Given the description of an element on the screen output the (x, y) to click on. 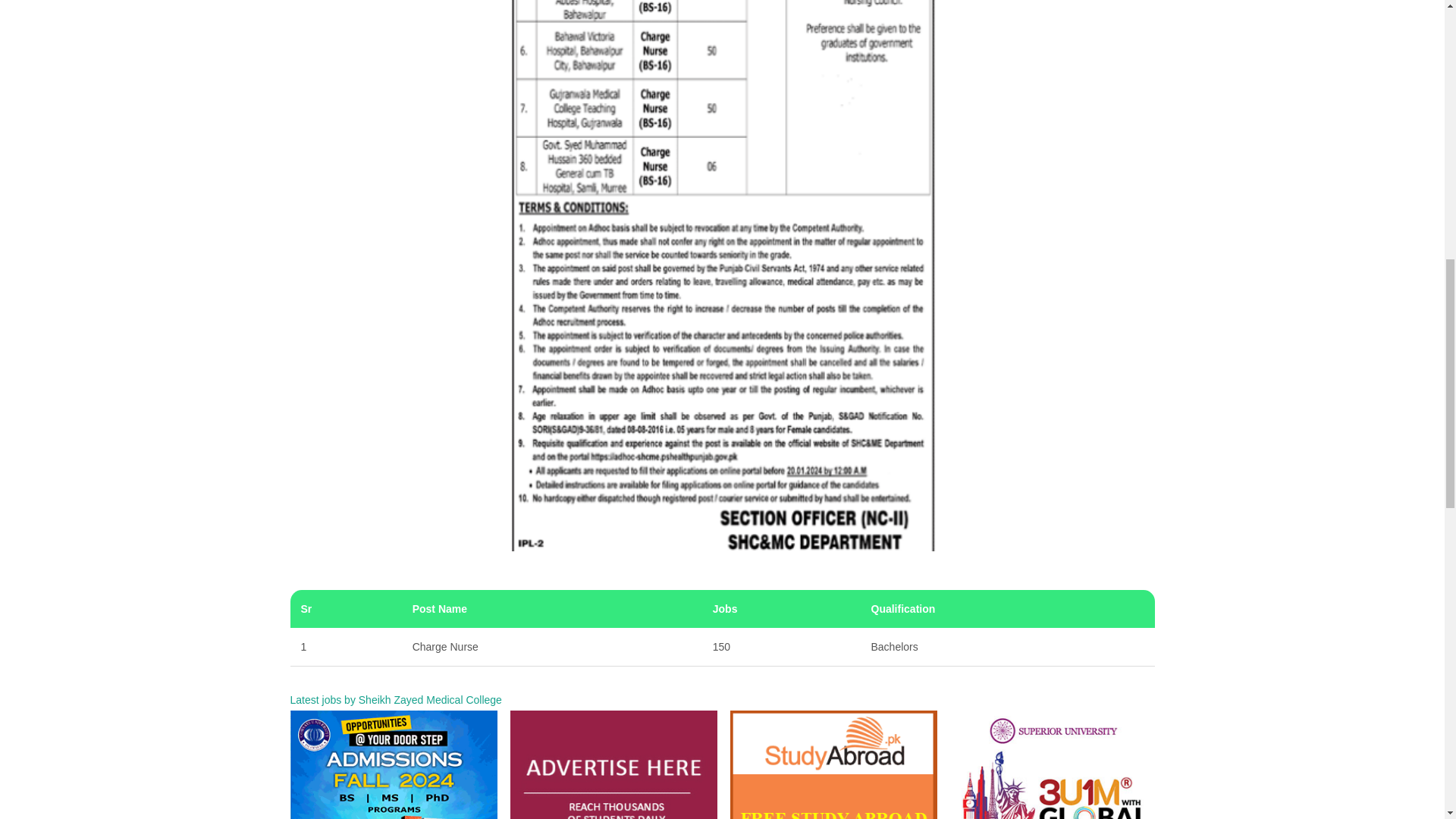
Latest jobs by Sheikh Zayed Medical College (394, 695)
